Given the description of an element on the screen output the (x, y) to click on. 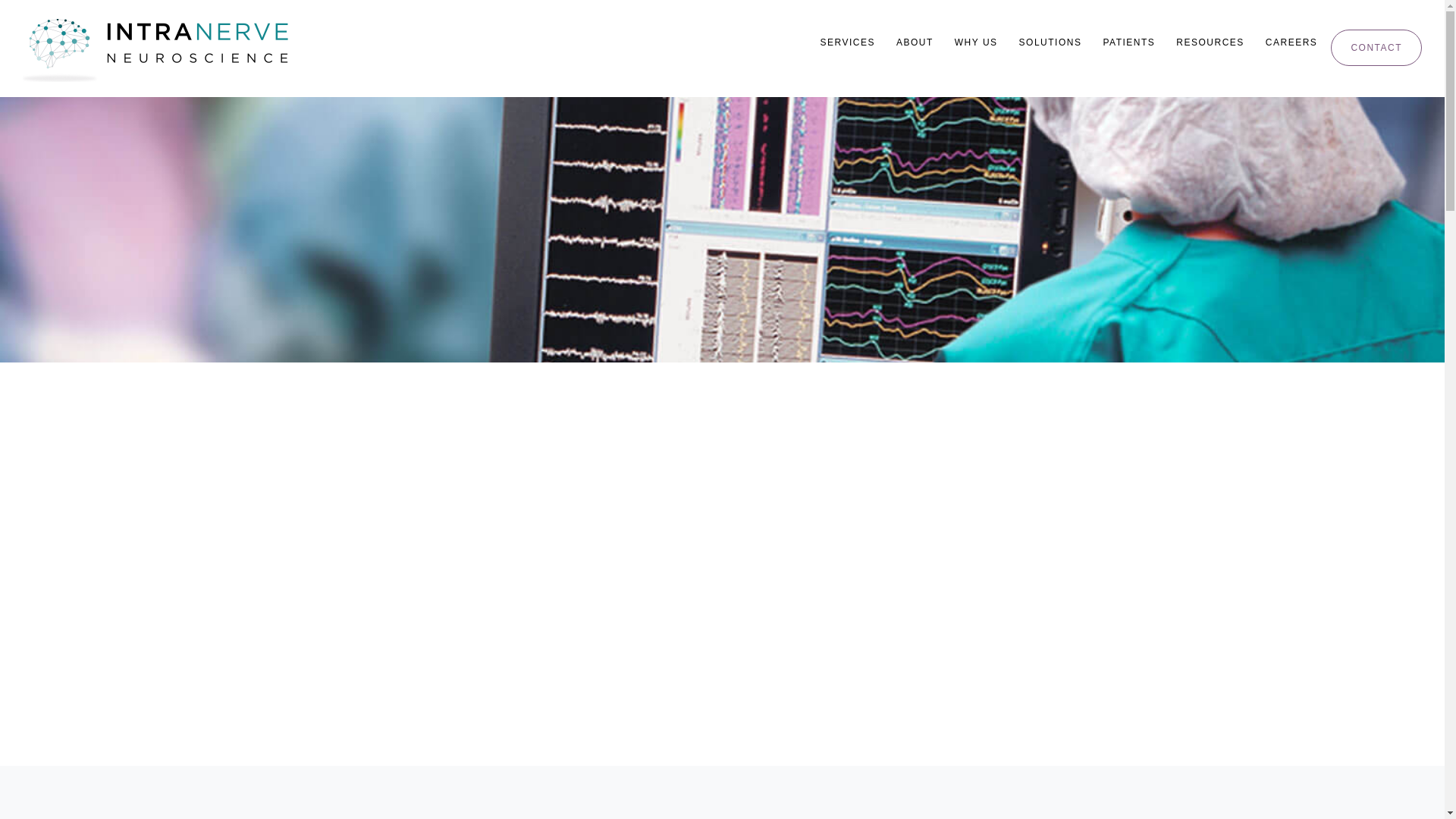
PATIENTS (1127, 42)
SOLUTIONS (1050, 42)
Why Us  (976, 42)
Services (847, 42)
ABOUT (914, 42)
WHY US (976, 42)
RESOURCES (1210, 42)
Solutions (1050, 42)
About INN (914, 42)
CAREERS (1290, 42)
